Given the description of an element on the screen output the (x, y) to click on. 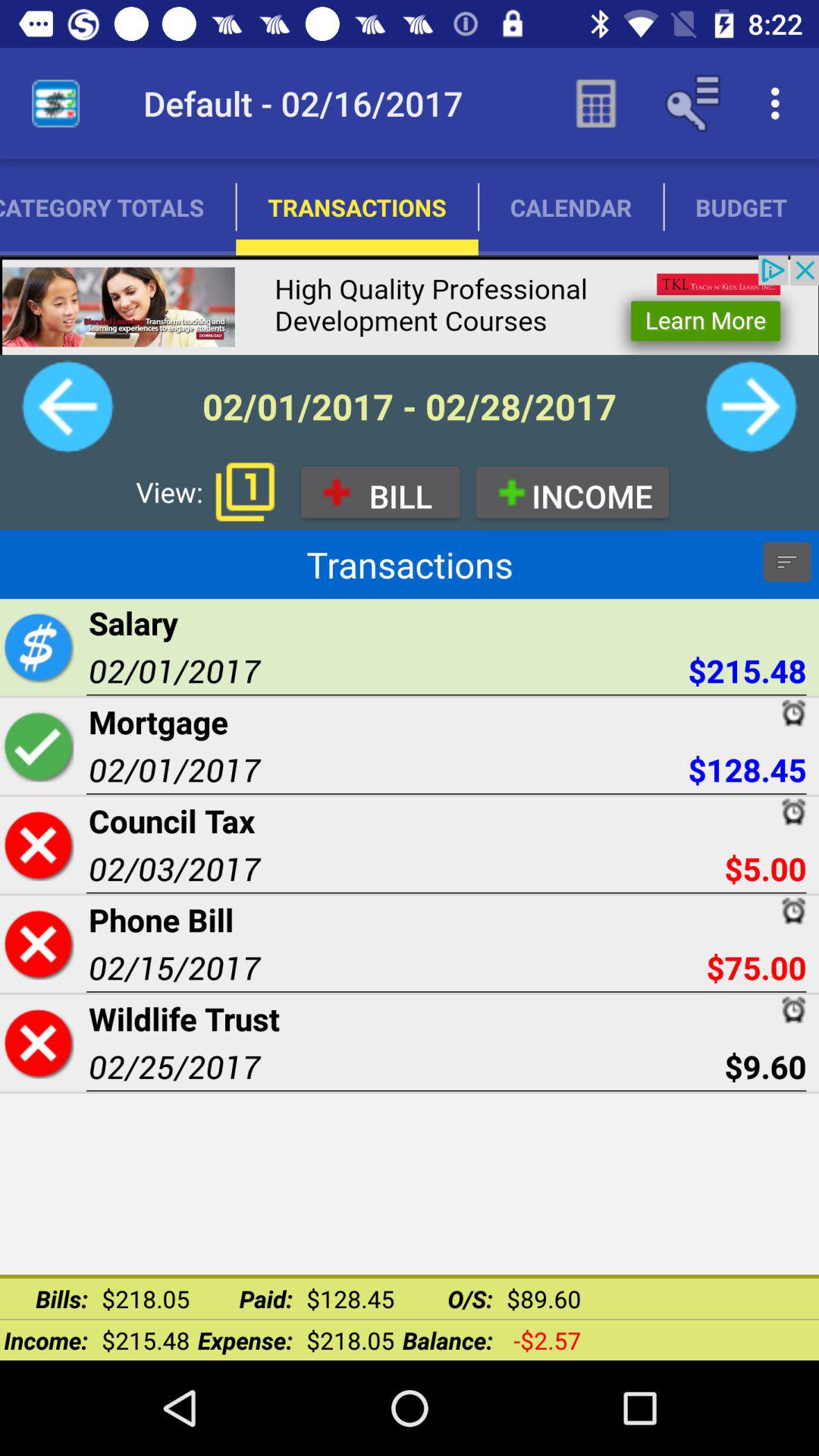
remove transaction (37, 1042)
